Given the description of an element on the screen output the (x, y) to click on. 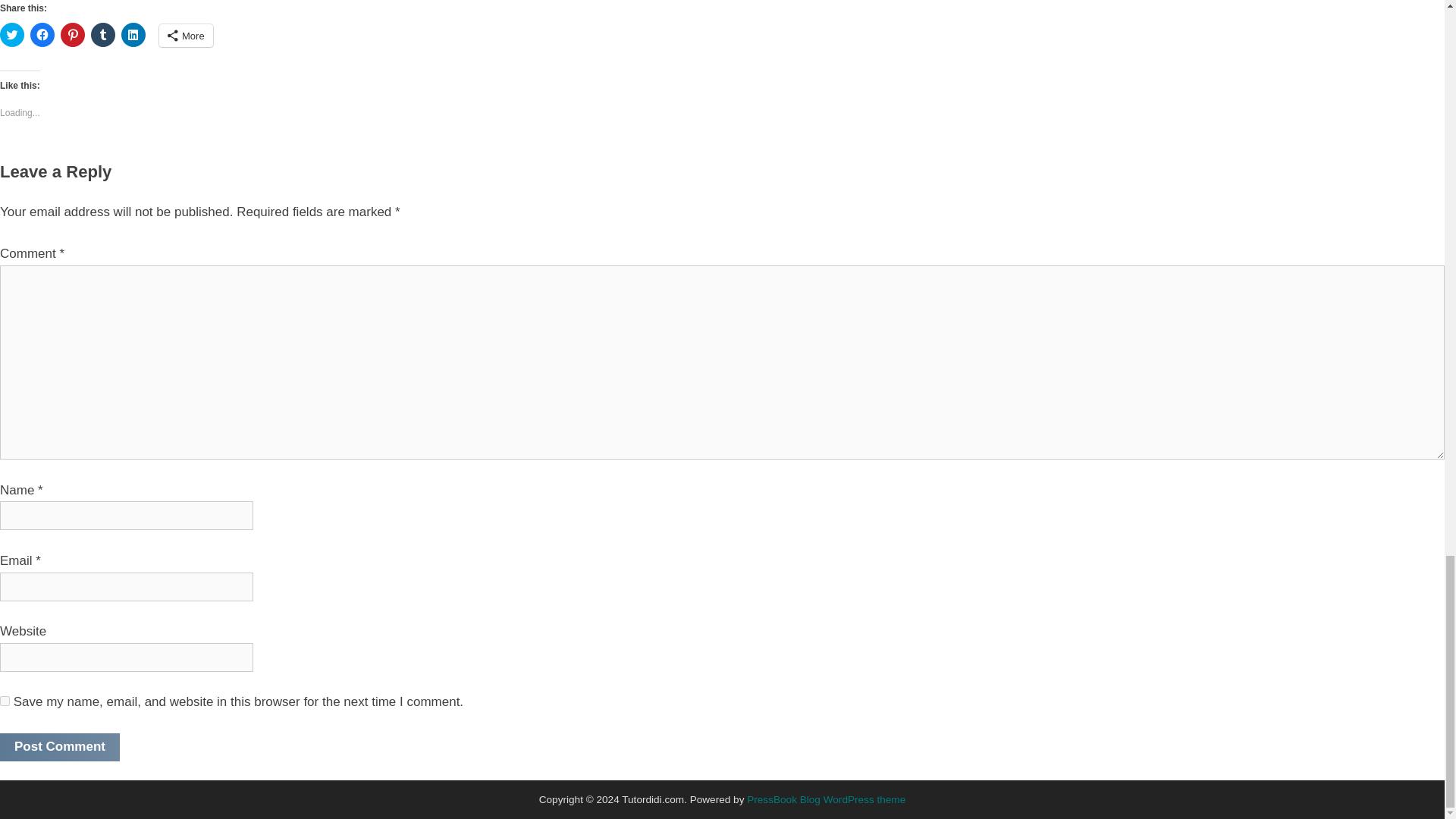
Click to share on Tumblr (102, 34)
Click to share on Facebook (42, 34)
Post Comment (59, 747)
Click to share on Twitter (12, 34)
PressBook Blog WordPress theme (825, 799)
More (185, 35)
Click to share on Pinterest (72, 34)
yes (5, 700)
Click to share on LinkedIn (132, 34)
Post Comment (59, 747)
